Given the description of an element on the screen output the (x, y) to click on. 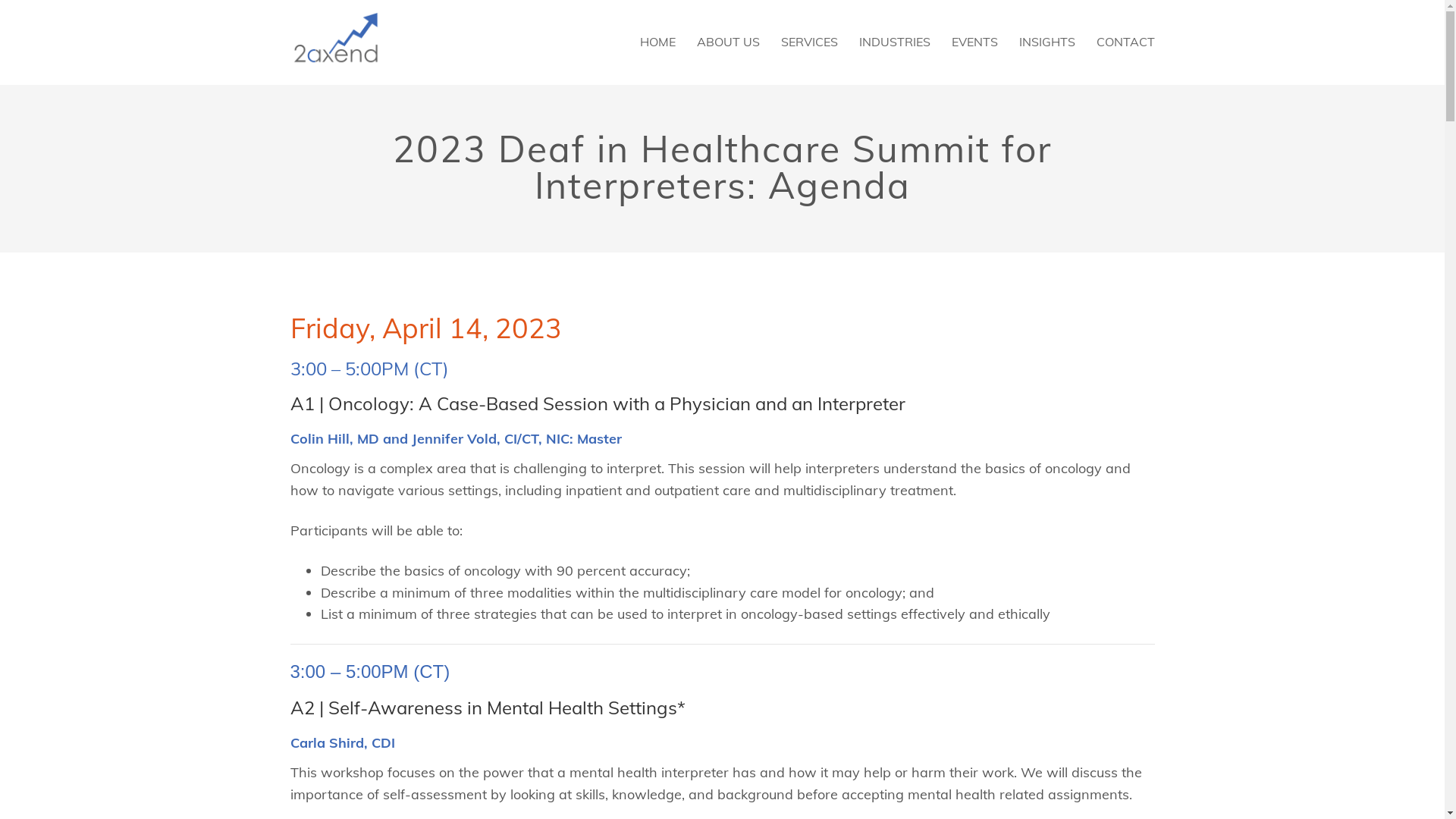
ABOUT US Element type: text (727, 42)
SERVICES Element type: text (809, 42)
INDUSTRIES Element type: text (893, 42)
CONTACT Element type: text (1125, 42)
HOME Element type: text (657, 42)
EVENTS Element type: text (973, 42)
INSIGHTS Element type: text (1047, 42)
